Given the description of an element on the screen output the (x, y) to click on. 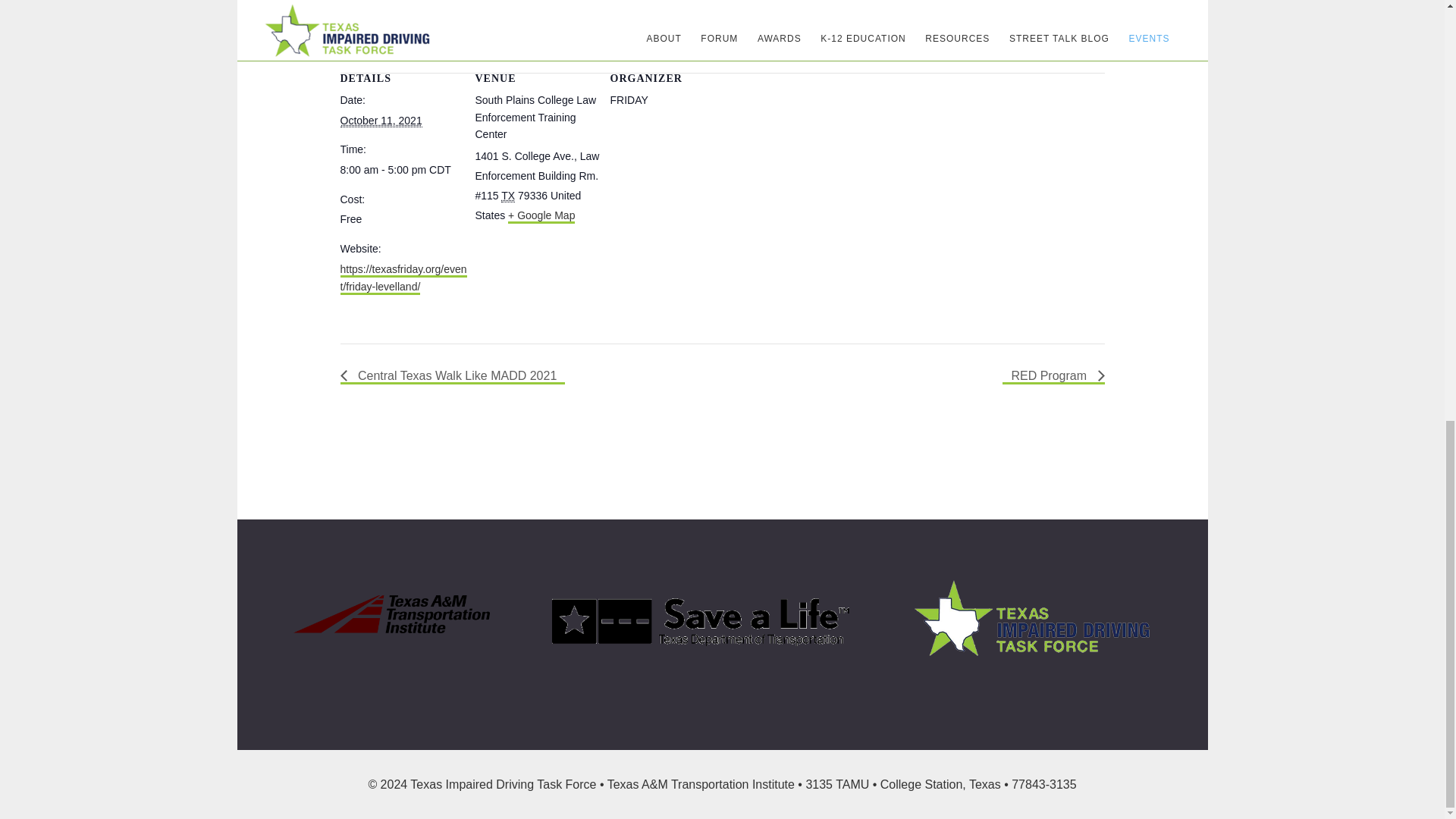
Click to view a Google Map (541, 216)
2021-10-11 (403, 170)
RED Program (1053, 376)
Texas (507, 195)
Central Texas Walk Like MADD 2021 (451, 376)
ADD TO CALENDAR (415, 8)
2021-10-11 (380, 120)
